Given the description of an element on the screen output the (x, y) to click on. 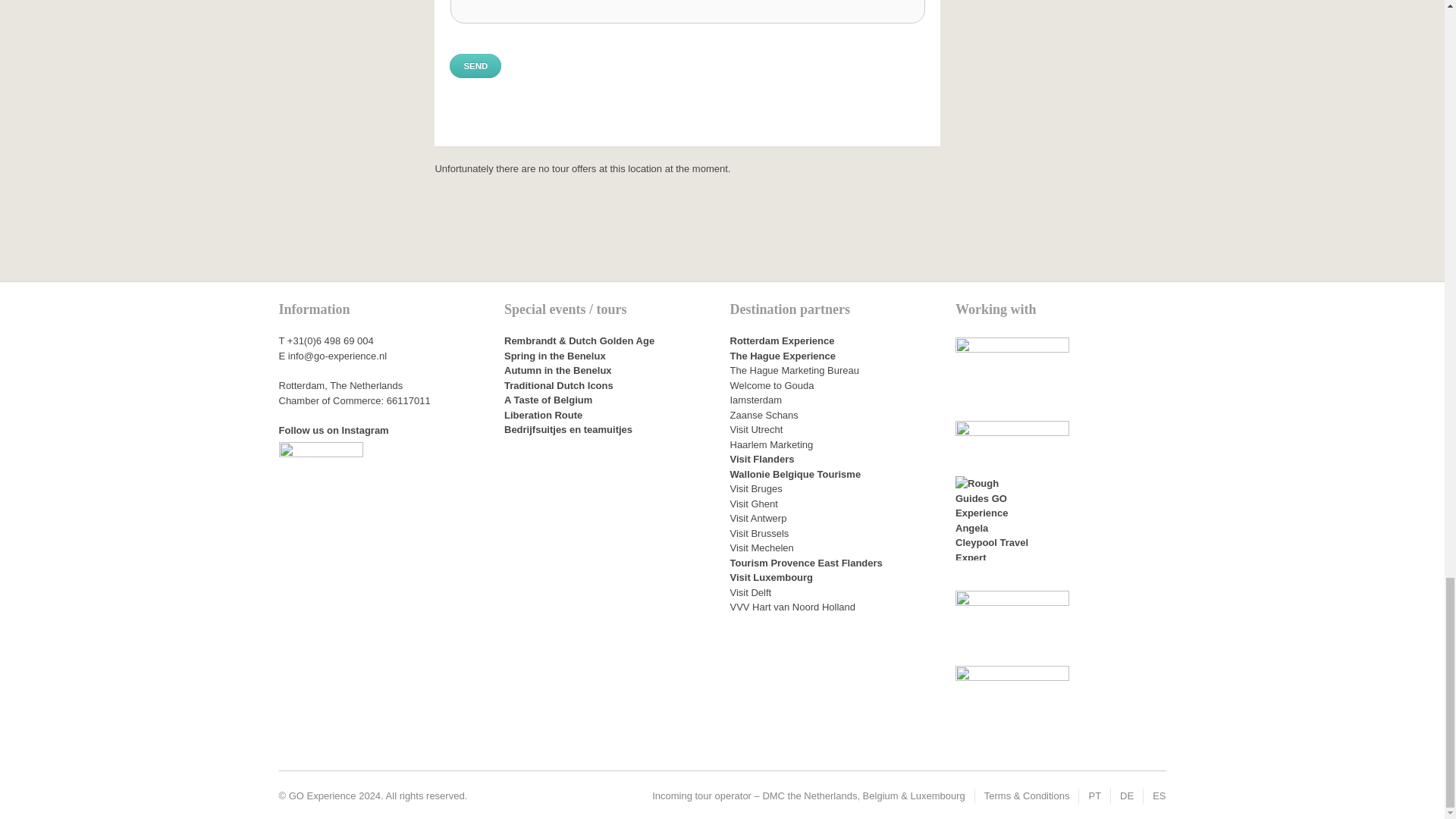
Follow us on Instagram (333, 430)
Send (474, 64)
Send (474, 64)
